Given the description of an element on the screen output the (x, y) to click on. 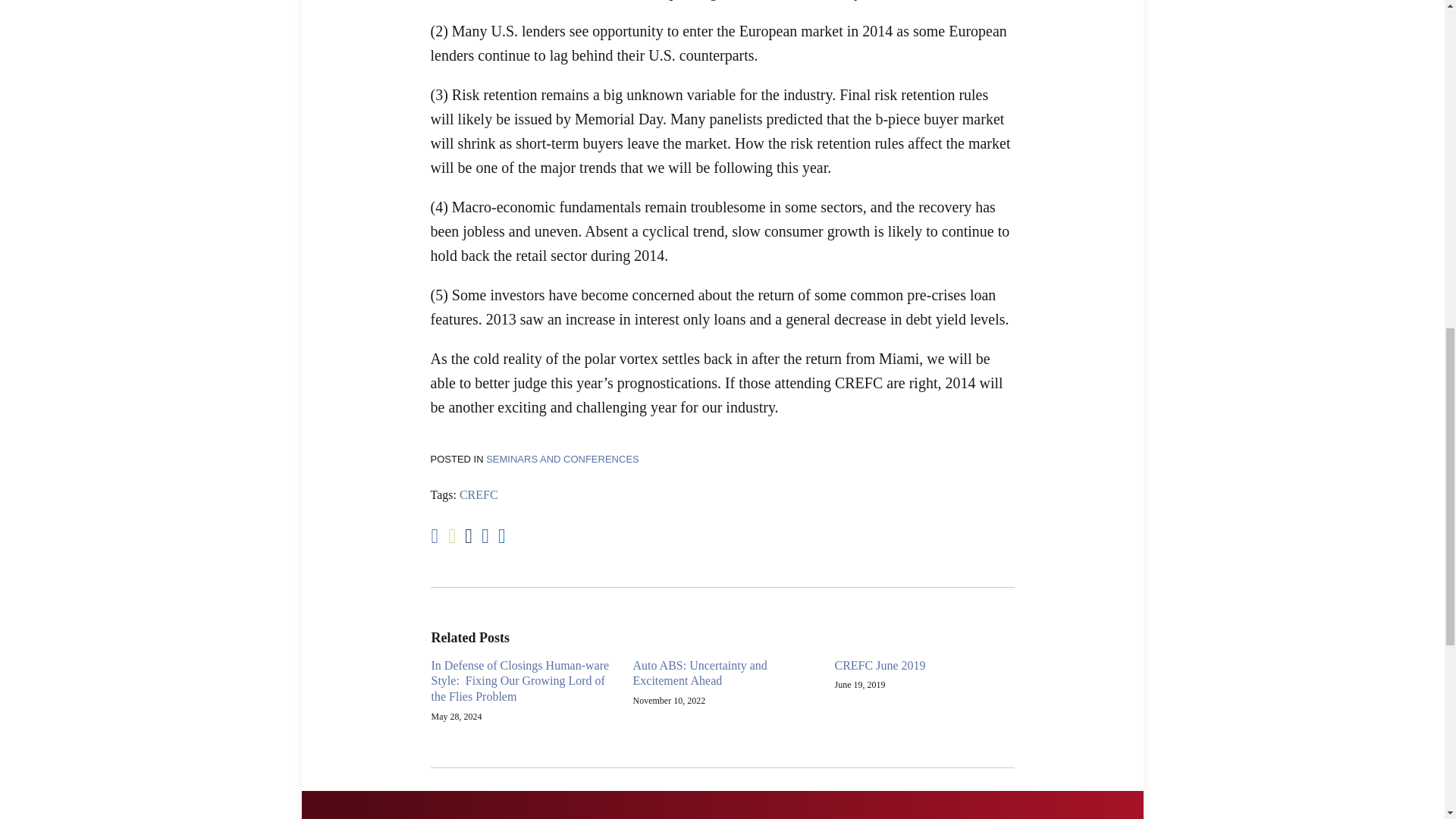
Auto ABS: Uncertainty and Excitement Ahead (720, 674)
SEMINARS AND CONFERENCES (562, 459)
CREFC (478, 494)
CREFC June 2019 (879, 666)
